Given the description of an element on the screen output the (x, y) to click on. 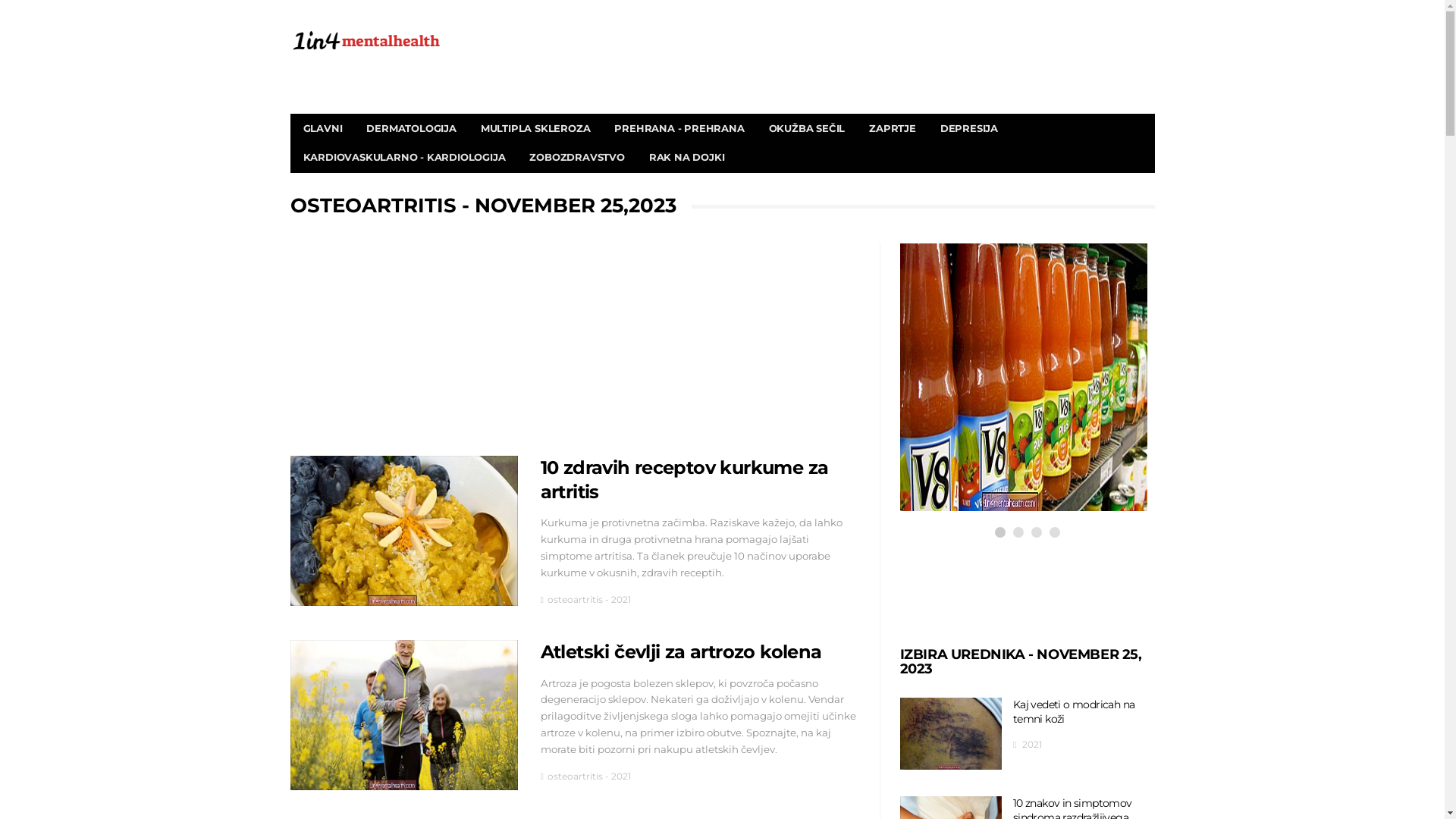
10 zdravih receptov kurkume za artritis Element type: text (683, 479)
KARDIOVASKULARNO - KARDIOLOGIJA Element type: text (404, 157)
ZOBOZDRAVSTVO Element type: text (576, 157)
PREHRANA - PREHRANA Element type: text (679, 128)
DERMATOLOGIJA Element type: text (410, 128)
MULTIPLA SKLEROZA Element type: text (535, 128)
DEPRESIJA Element type: text (969, 128)
Advertisement Element type: hover (573, 349)
10 zdravih receptov kurkume za artritis Element type: hover (403, 530)
GLAVNI Element type: text (322, 128)
RAK NA DOJKI Element type: text (687, 157)
ZAPRTJE Element type: text (892, 128)
